Given the description of an element on the screen output the (x, y) to click on. 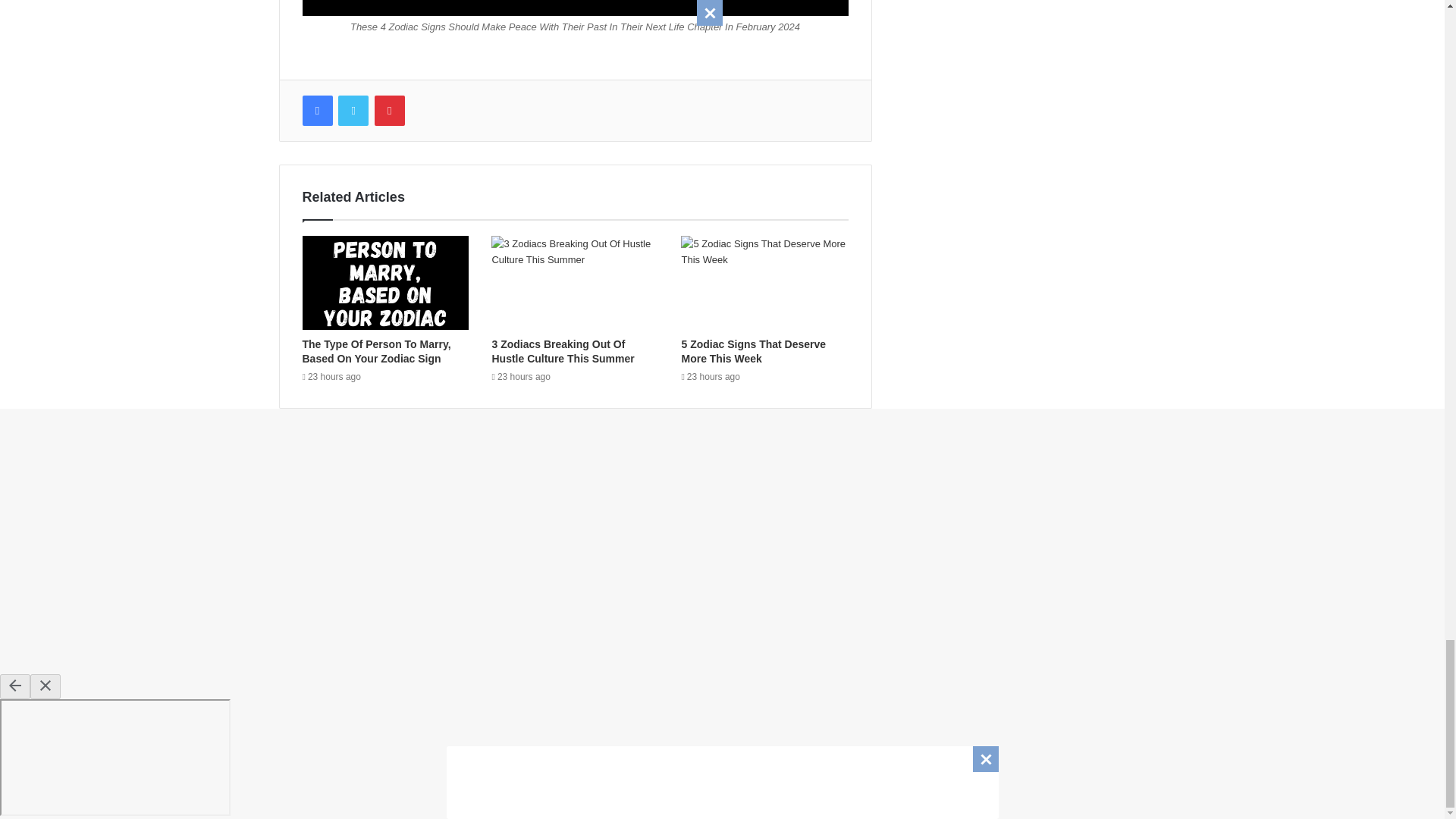
Facebook (316, 110)
Twitter (352, 110)
3 Zodiacs Breaking Out Of Hustle Culture This Summer (562, 351)
Facebook (316, 110)
Pinterest (389, 110)
The Type Of Person To Marry, Based On Your Zodiac Sign (375, 351)
Twitter (352, 110)
5 Zodiac Signs That Deserve More This Week (753, 351)
